Given the description of an element on the screen output the (x, y) to click on. 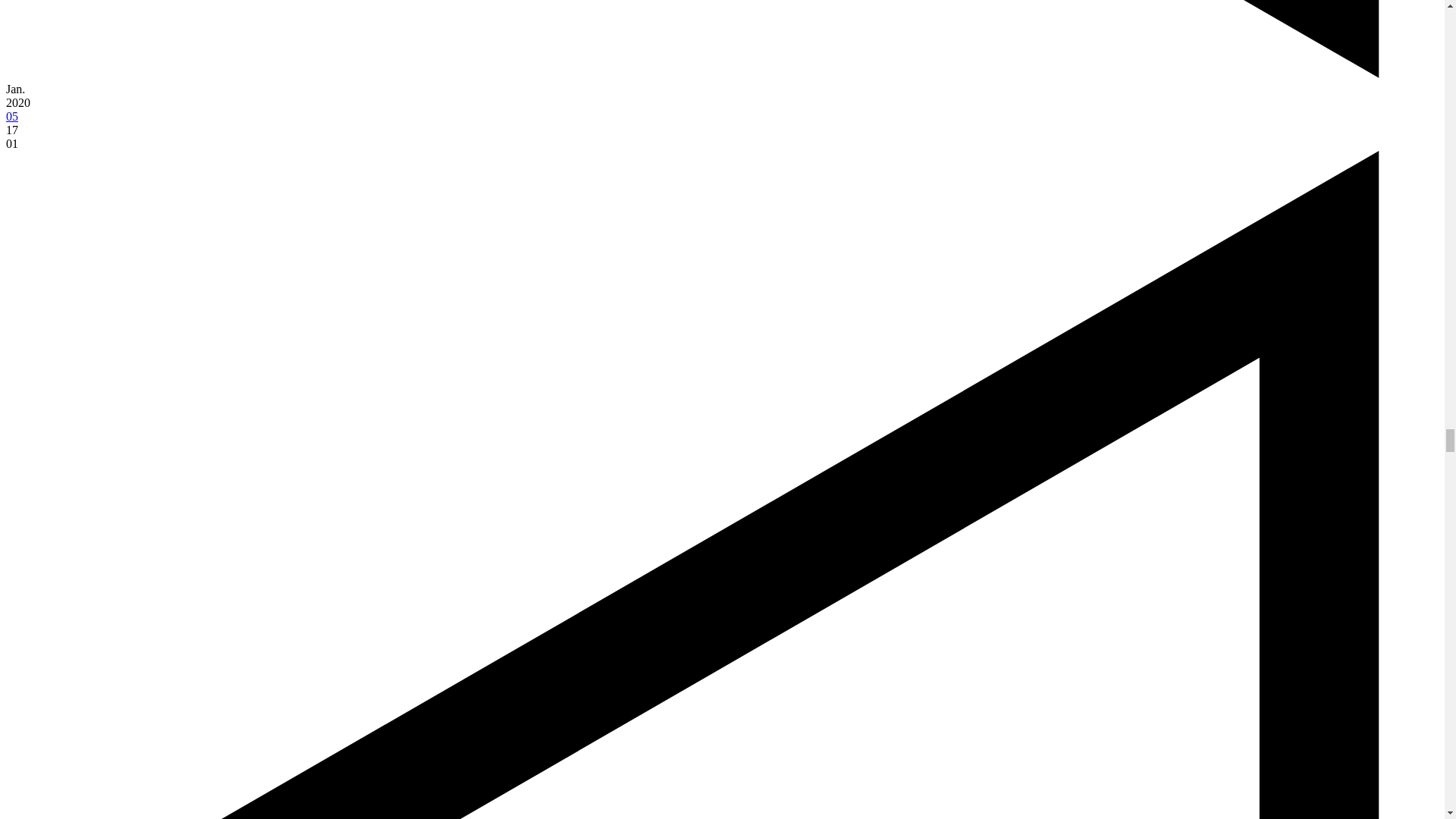
05 (11, 115)
